Given the description of an element on the screen output the (x, y) to click on. 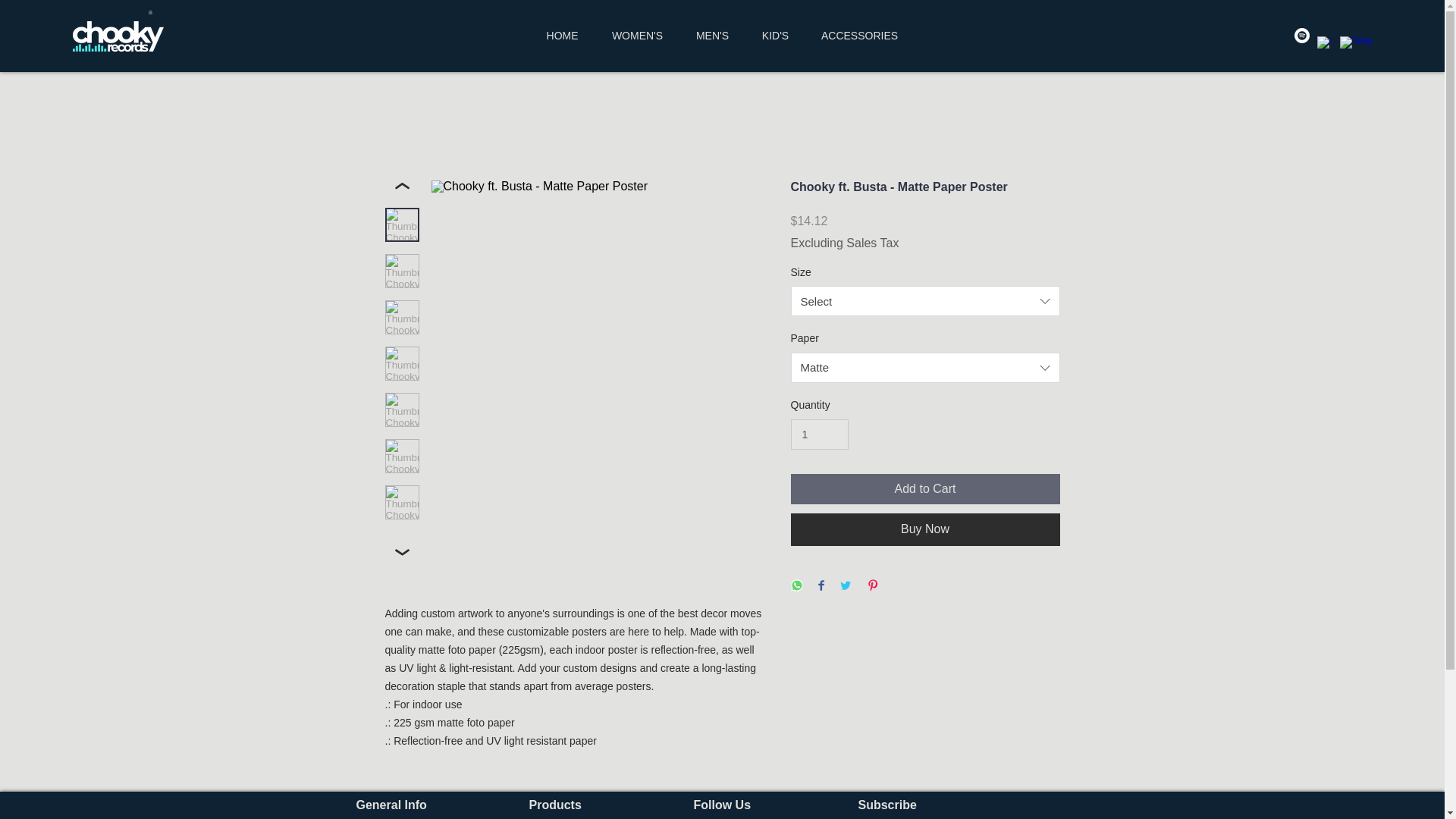
WOMEN'S (637, 35)
Buy Now (924, 529)
Select (924, 300)
Add to Cart (924, 489)
1 (818, 434)
HOME (562, 35)
Matte (924, 367)
MEN'S (712, 35)
ACCESSORIES (859, 35)
KID'S (775, 35)
